Given the description of an element on the screen output the (x, y) to click on. 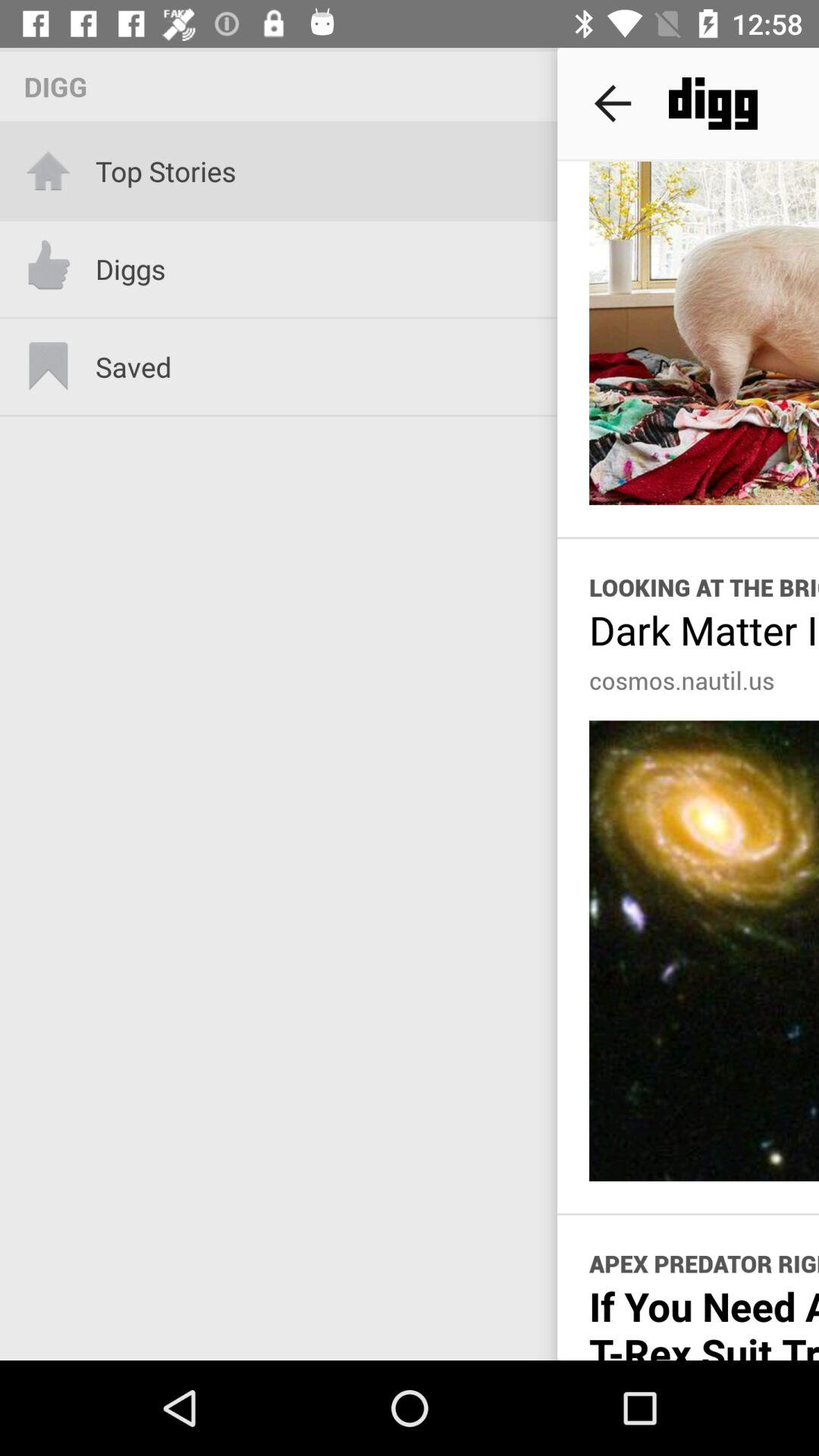
scroll until the cosmos.nautil.us (681, 680)
